Given the description of an element on the screen output the (x, y) to click on. 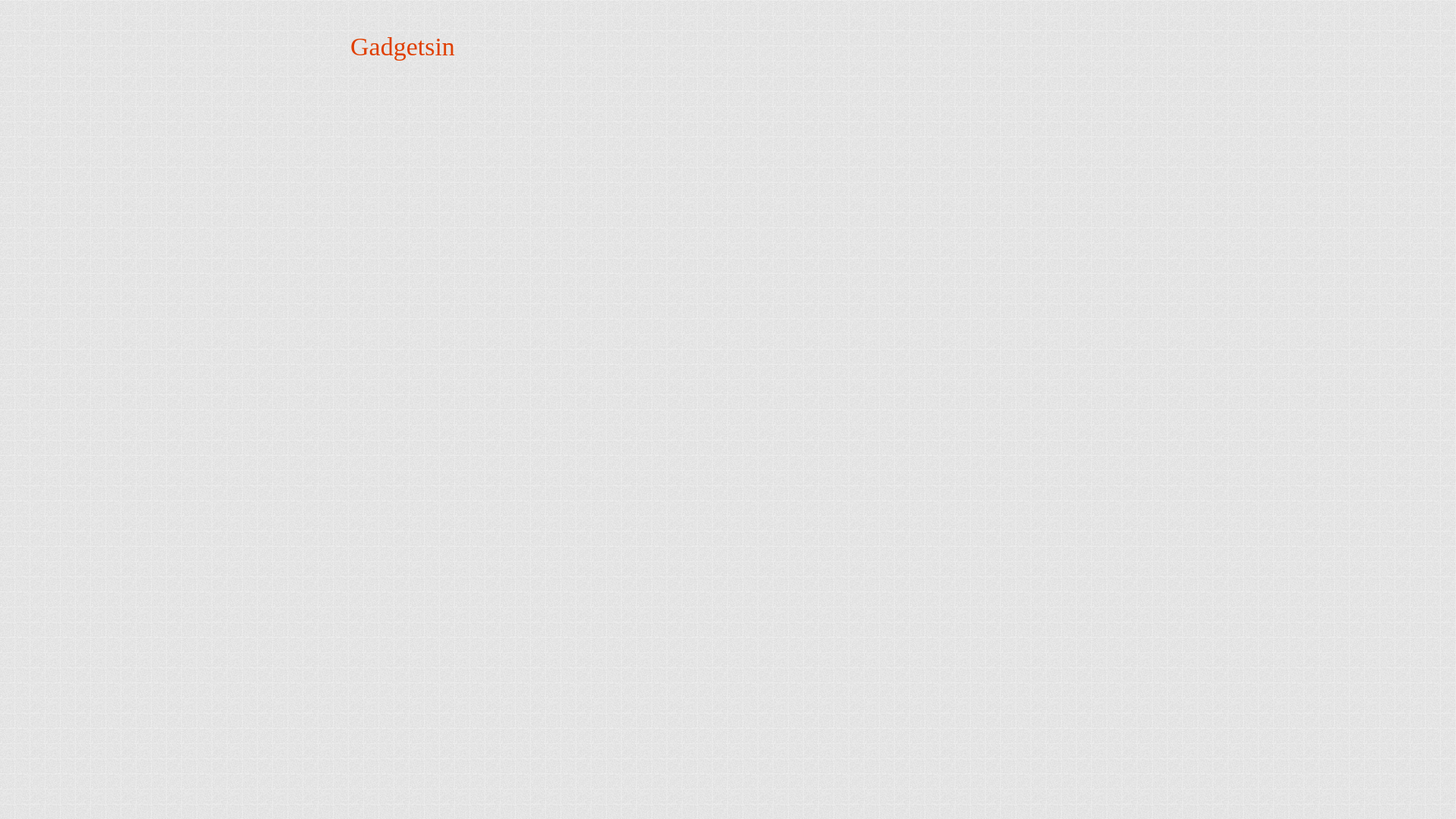
Gadgetsin (402, 46)
